Given the description of an element on the screen output the (x, y) to click on. 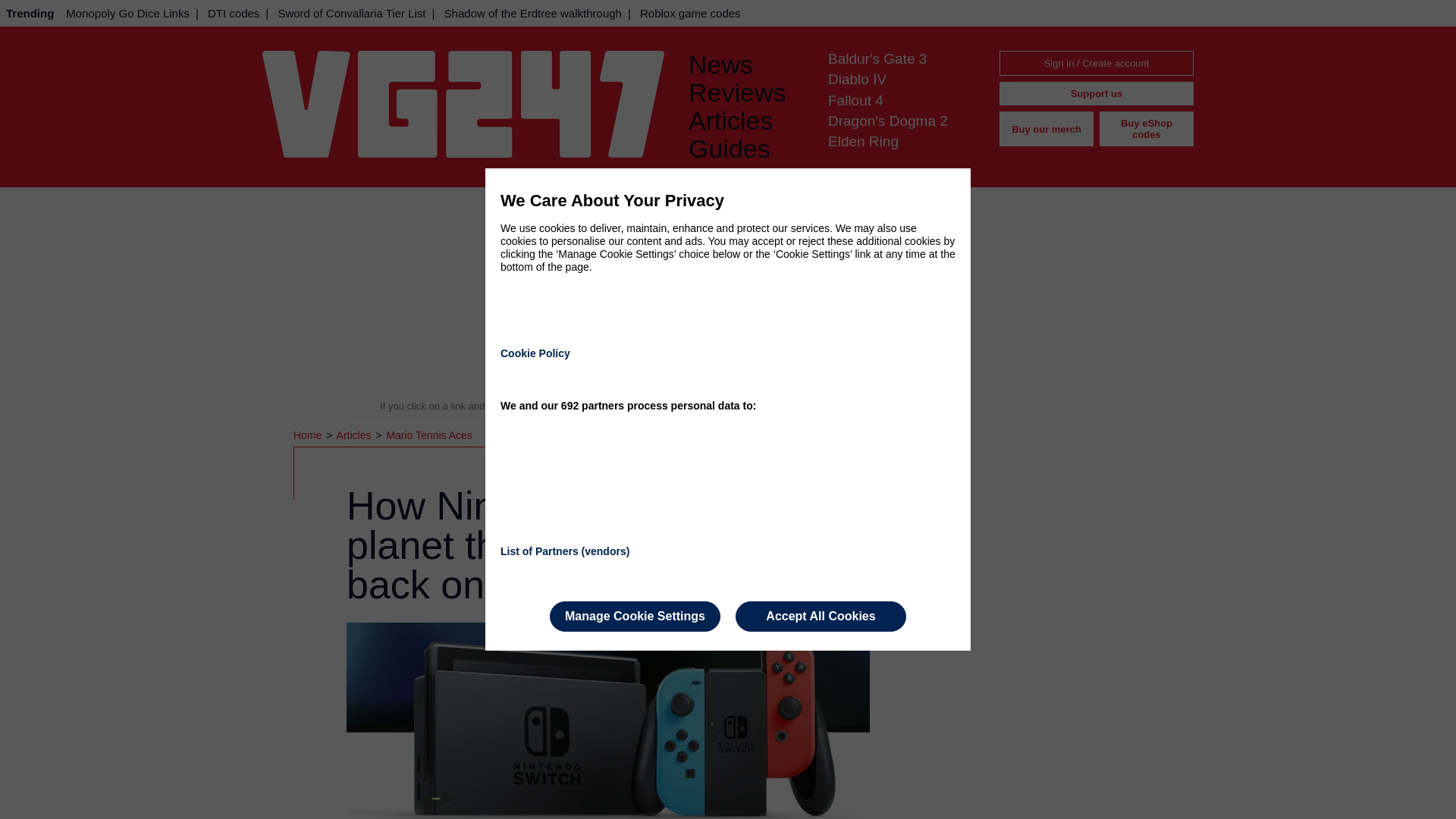
Roblox game codes (689, 13)
Read our editorial policy (781, 405)
DTI codes (233, 13)
Diablo IV (857, 78)
Reviews (745, 92)
Baldur's Gate 3 (877, 58)
Mario Tennis Aces (428, 435)
Fallout 4 (855, 100)
News (745, 64)
Buy our merch (1045, 128)
